Given the description of an element on the screen output the (x, y) to click on. 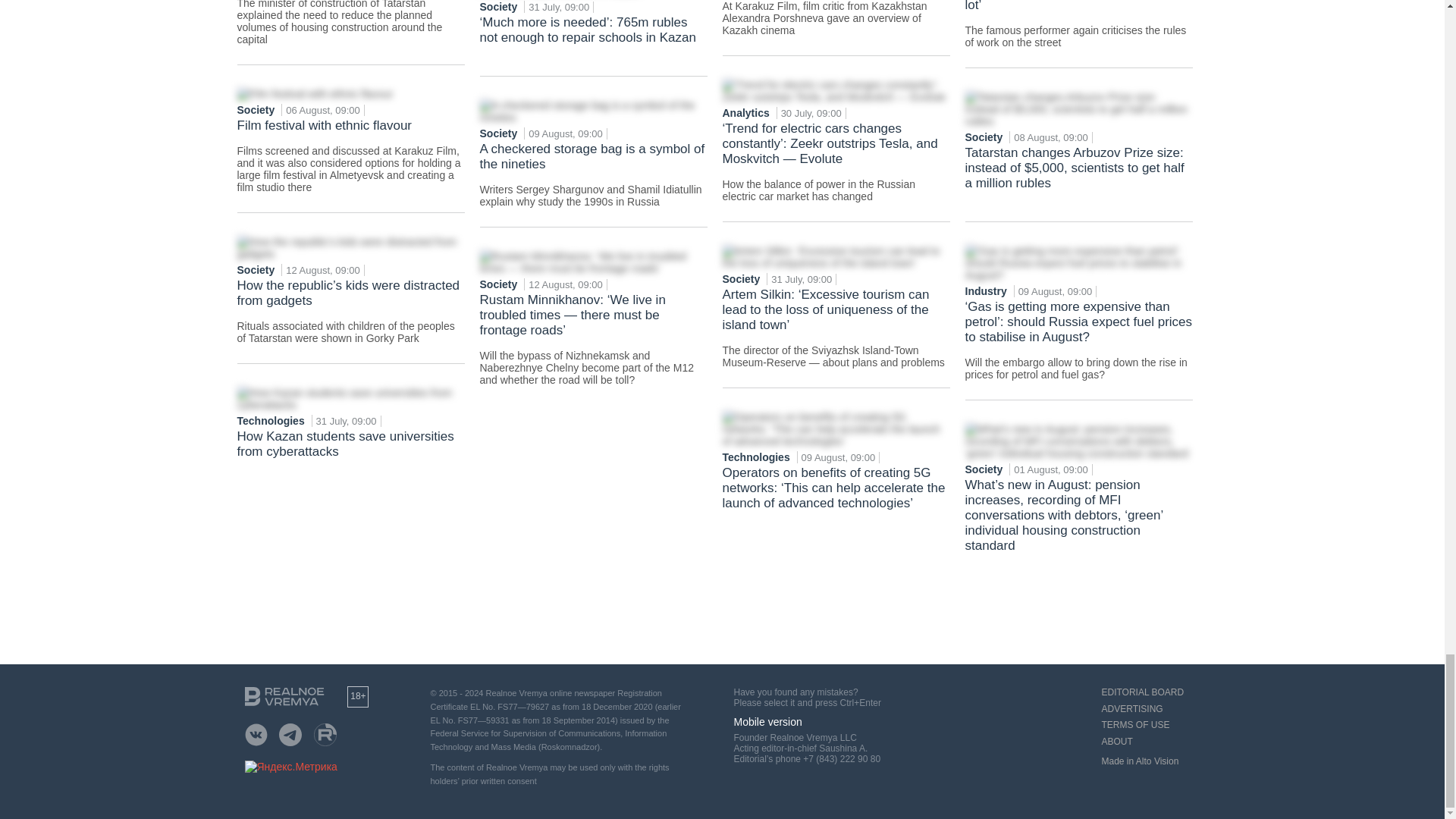
Society (499, 6)
How Kazan students save universities from cyberattacks (349, 454)
Society (256, 110)
Society (256, 269)
Technologies (271, 420)
